Given the description of an element on the screen output the (x, y) to click on. 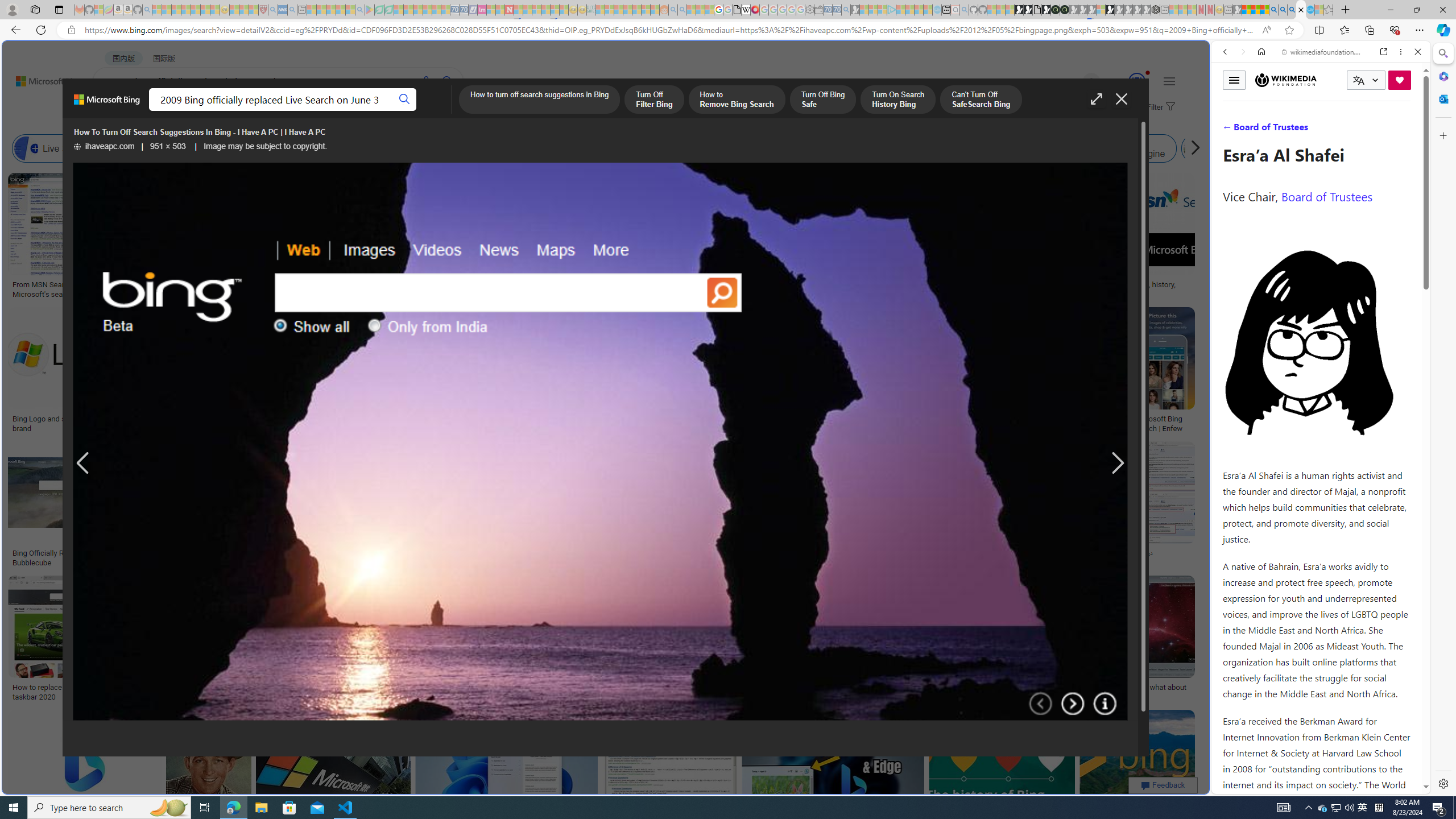
ACADEMIC (360, 111)
MY BING (156, 111)
Live Search (25, 148)
Microsoft Live Logo (419, 284)
Bing Picture Search Engine (224, 148)
Microsoft Rewards 84 (1125, 81)
microsoft bingSave (1045, 371)
